Given the description of an element on the screen output the (x, y) to click on. 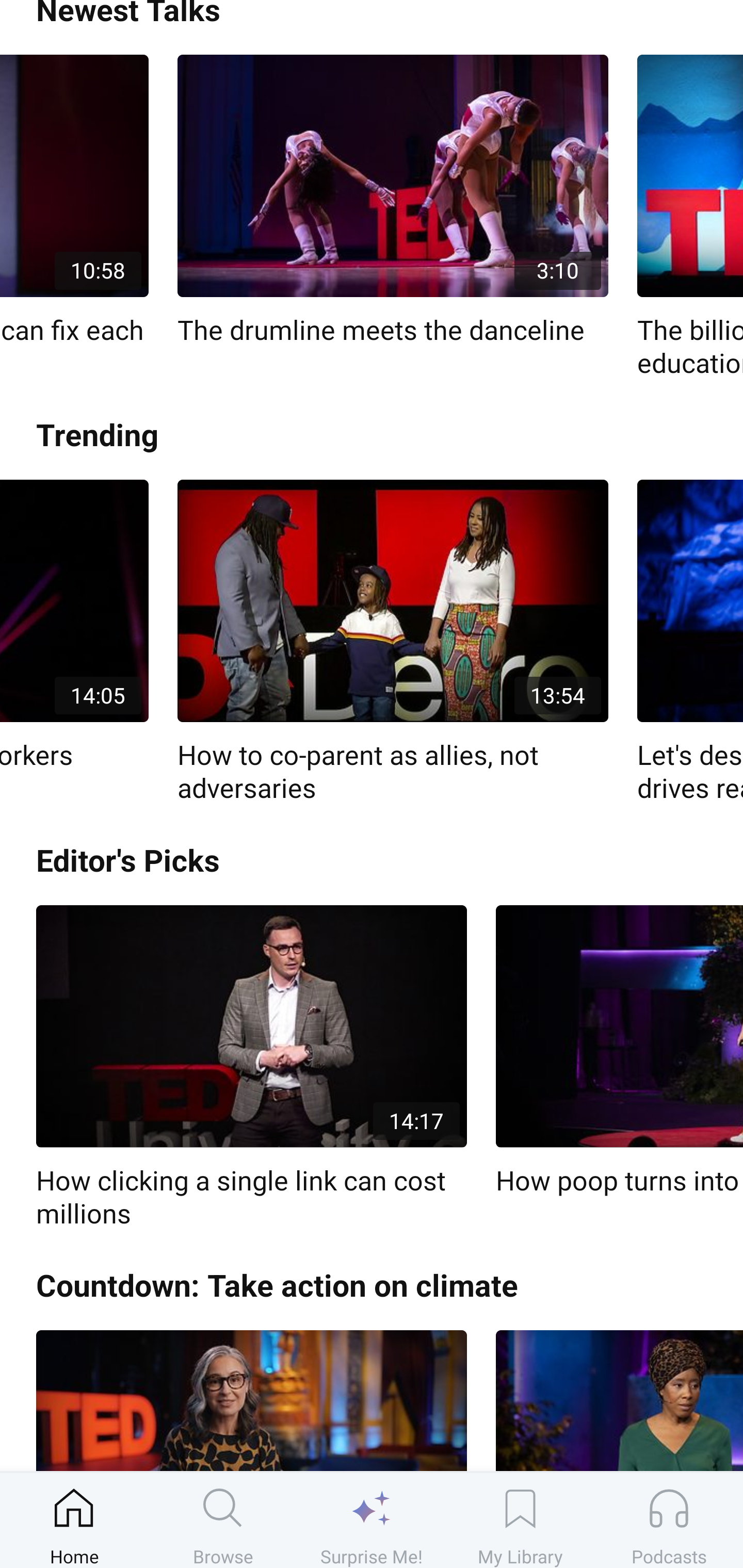
3:10 The drumline meets the danceline (392, 201)
13:54 How to co-parent as allies, not adversaries (392, 642)
14:17 How clicking a single link can cost millions (251, 1067)
How poop turns into forests (619, 1050)
Home (74, 1520)
Browse (222, 1520)
Surprise Me! (371, 1520)
My Library (519, 1520)
Podcasts (668, 1520)
